Given the description of an element on the screen output the (x, y) to click on. 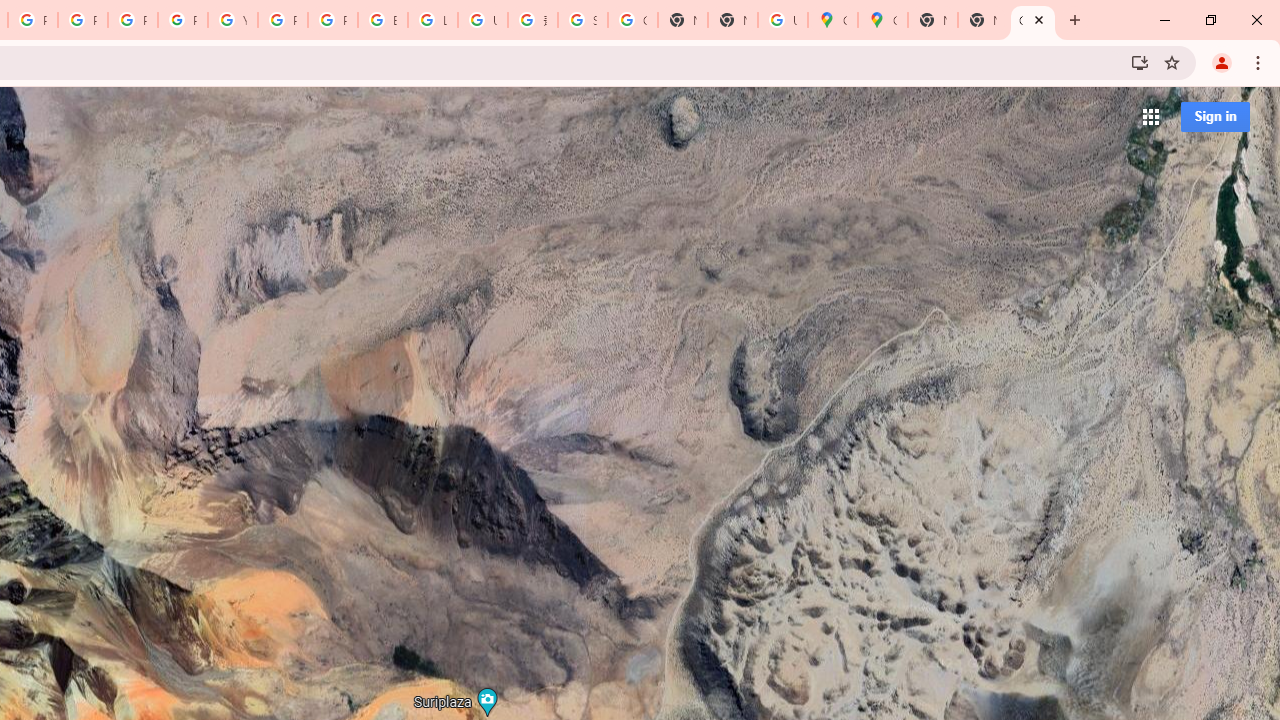
Privacy Help Center - Policies Help (82, 20)
YouTube (232, 20)
Google Maps (882, 20)
New Tab (982, 20)
Privacy Help Center - Policies Help (132, 20)
Use Google Maps in Space - Google Maps Help (782, 20)
